Given the description of an element on the screen output the (x, y) to click on. 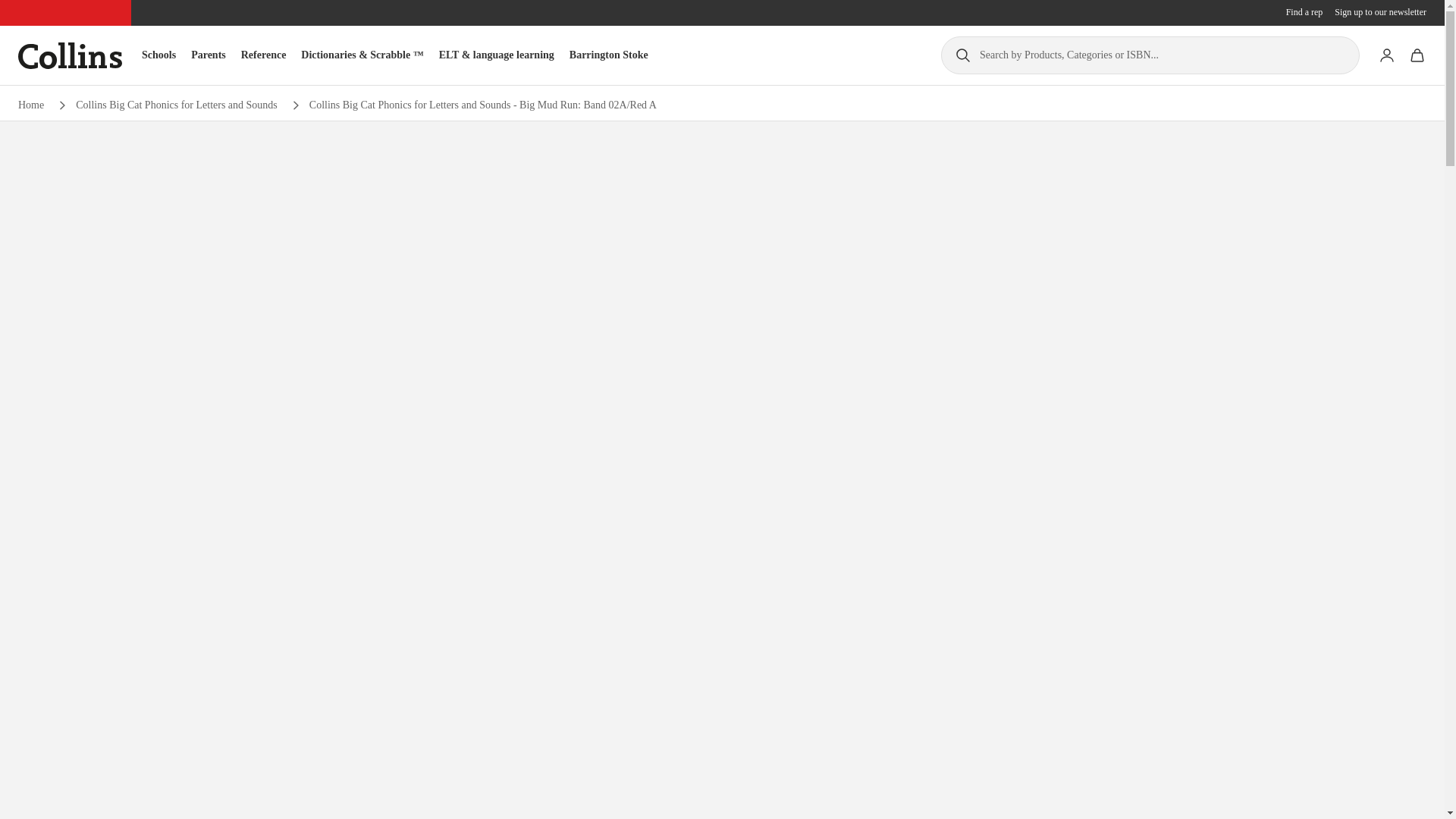
Reference (264, 55)
Barrington Stoke (608, 55)
Collins Big Cat Phonics for Letters and Sounds (176, 105)
Account (1386, 55)
Collins (69, 55)
Parents (208, 55)
Home (30, 105)
Find a rep (1304, 11)
Schools (158, 55)
Toggle cart (1417, 55)
